Given the description of an element on the screen output the (x, y) to click on. 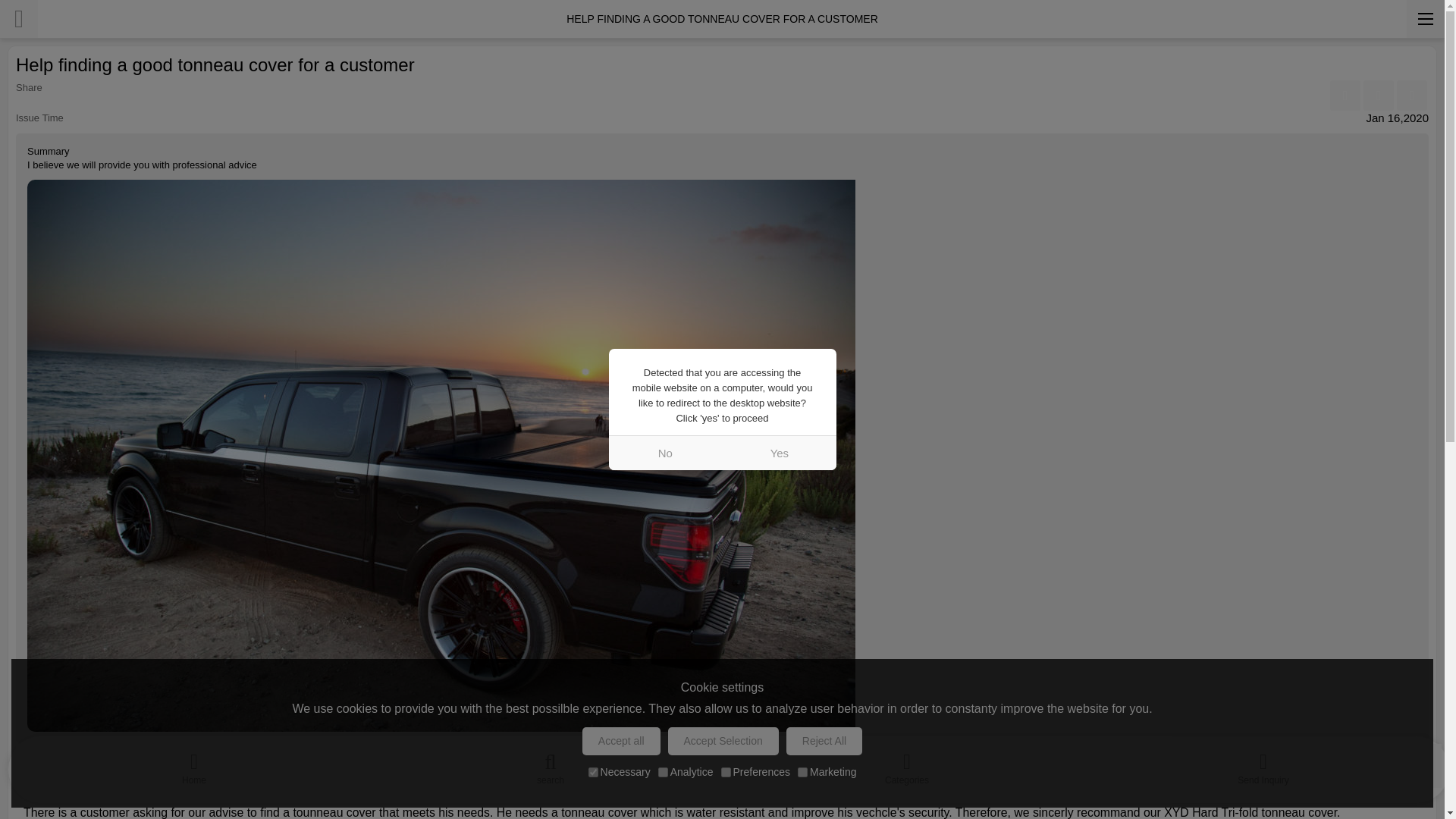
Categories (906, 765)
on (593, 772)
Send Inquiry (1262, 765)
Share Twitter (1411, 95)
search (550, 765)
Home (194, 765)
Home (194, 765)
Accept all (621, 741)
on (802, 772)
Send Inquiry (1262, 765)
Share Linkedin (1377, 95)
Share Facebook (1344, 95)
Accept Selection (723, 741)
Return (18, 18)
on (725, 772)
